Given the description of an element on the screen output the (x, y) to click on. 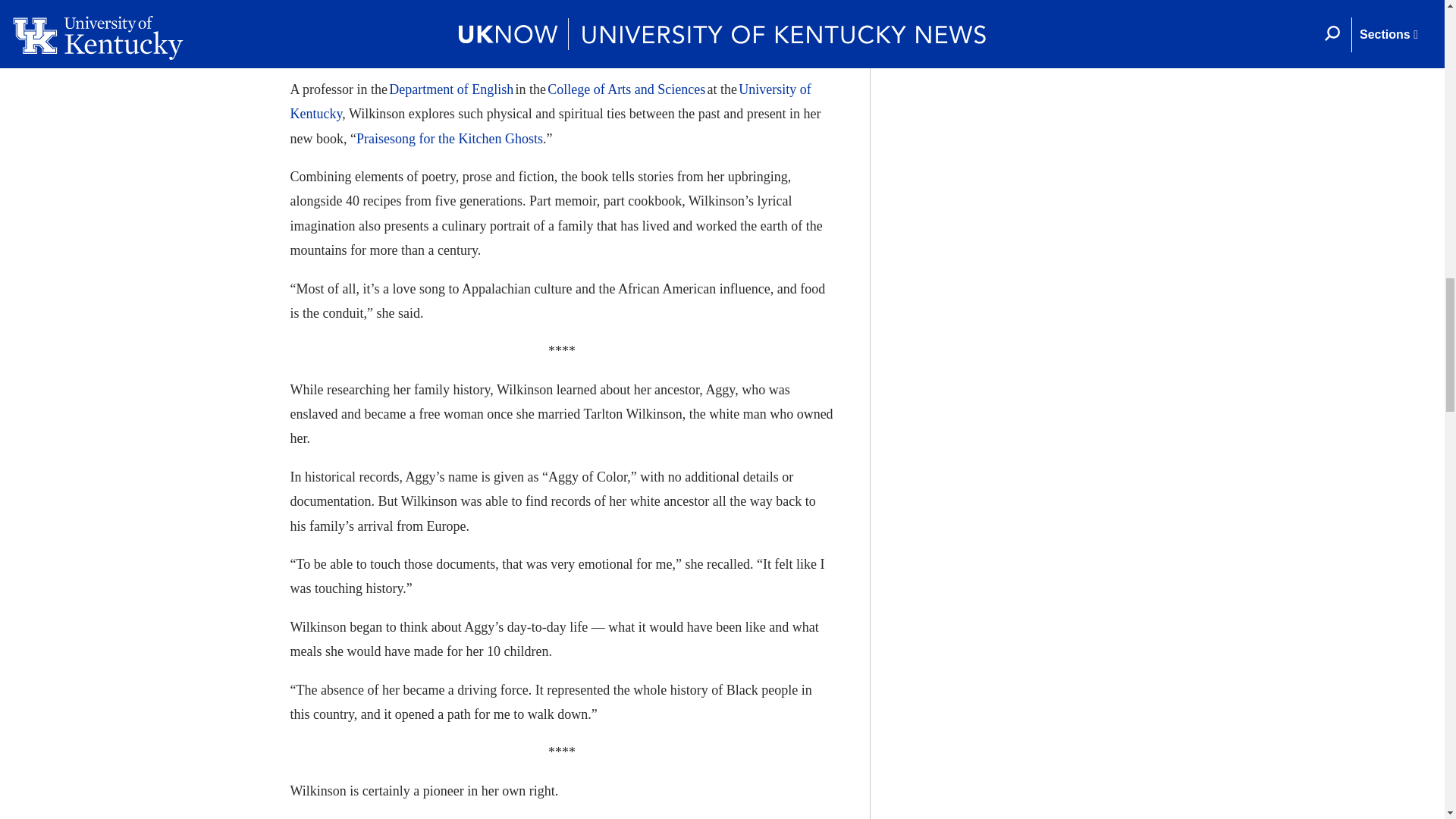
English (492, 89)
of Arts and (623, 89)
Department (420, 89)
of Kentucky (549, 101)
Praisesong for the Kitchen Ghosts (449, 138)
University (767, 89)
of (461, 89)
Sciences (681, 89)
College (568, 89)
